Given the description of an element on the screen output the (x, y) to click on. 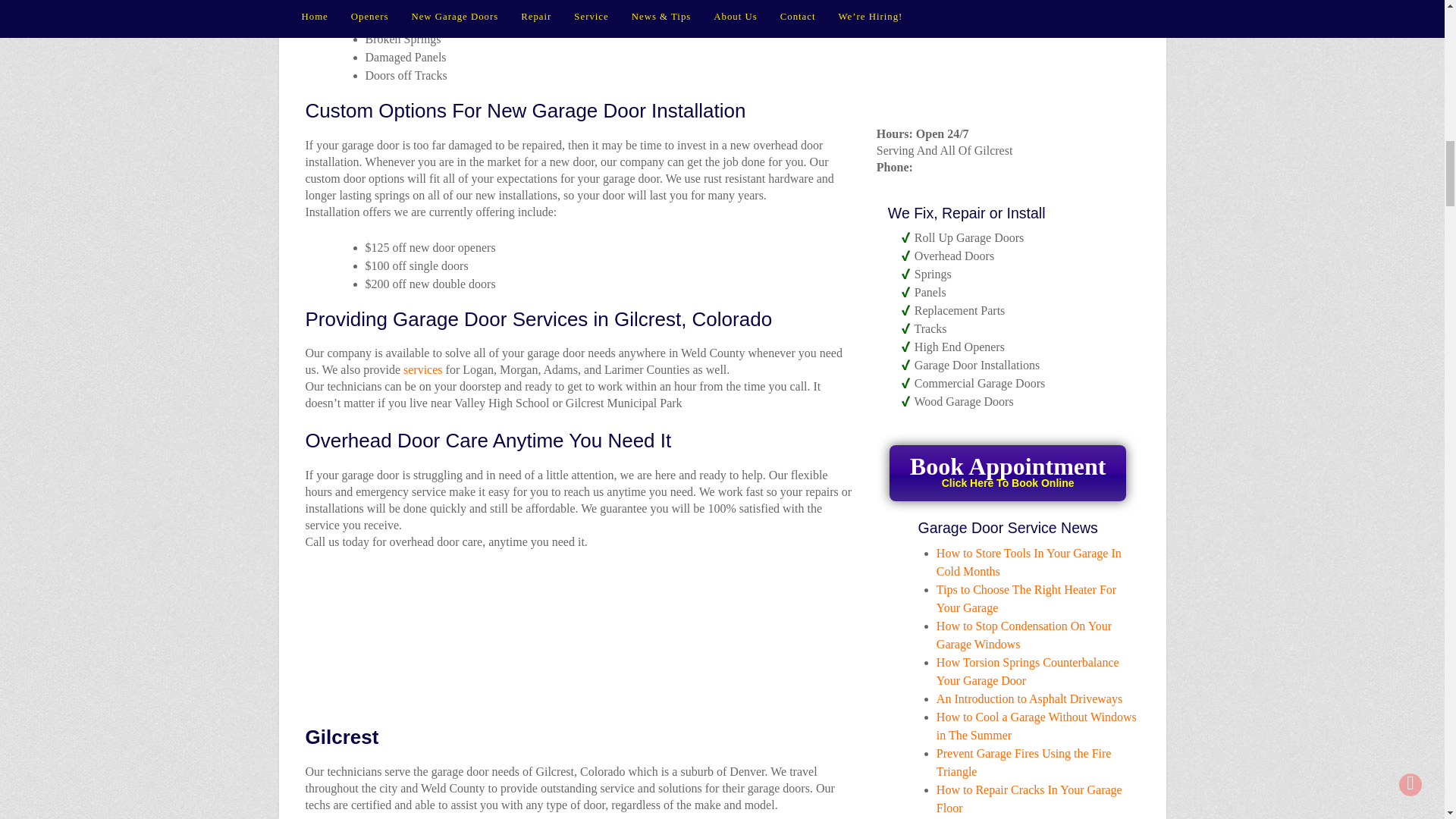
How to Cool a Garage Without Windows in The Summer (1036, 726)
How to Repair Cracks In Your Garage Floor (1029, 798)
An Introduction to Asphalt Driveways (1029, 698)
Tips to Choose The Right Heater For Your Garage (1007, 473)
services (1026, 598)
How to Stop Condensation On Your Garage Windows (424, 369)
How Torsion Springs Counterbalance Your Garage Door (1024, 634)
Prevent Garage Fires Using the Fire Triangle (1027, 671)
How to Store Tools In Your Garage In Cold Months (1024, 762)
